Given the description of an element on the screen output the (x, y) to click on. 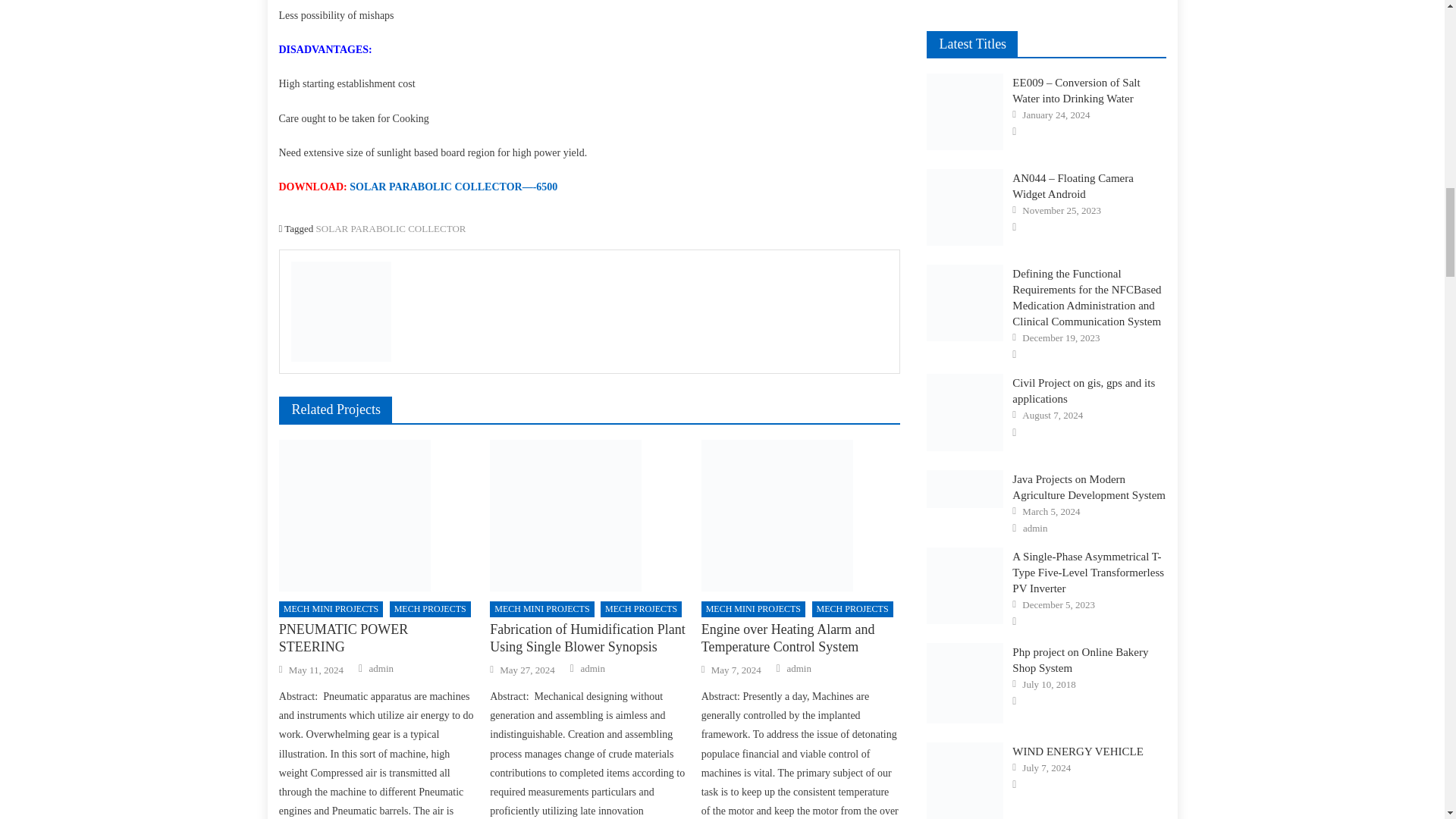
Engine over Heating Alarm and Temperature Control System (800, 515)
Civil Project on gis, gps and its applications (964, 411)
PNEUMATIC POWER STEERING (378, 515)
Java Projects on Modern Agriculture Development System (964, 489)
